Given the description of an element on the screen output the (x, y) to click on. 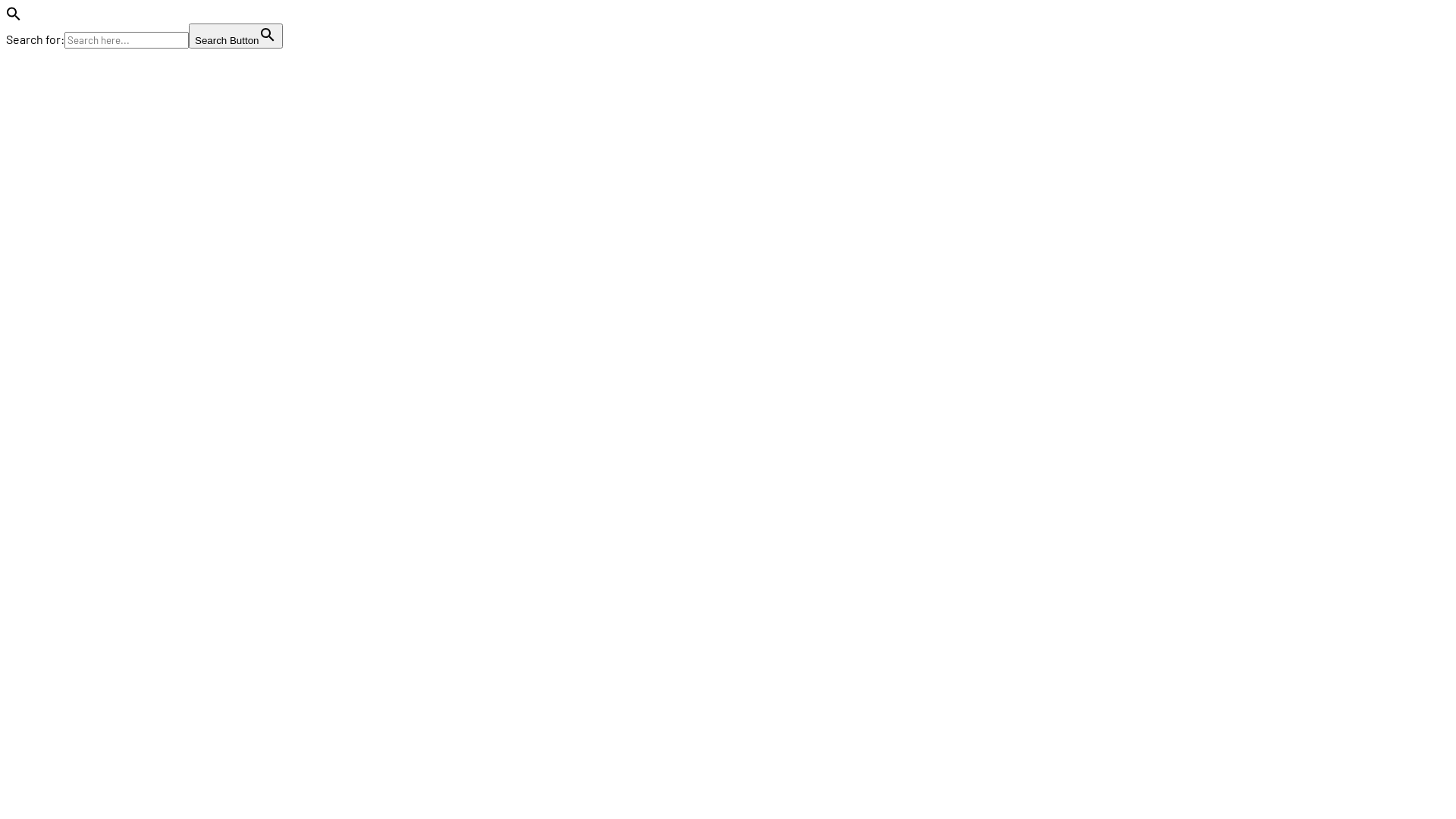
Search Button Element type: text (235, 35)
